Given the description of an element on the screen output the (x, y) to click on. 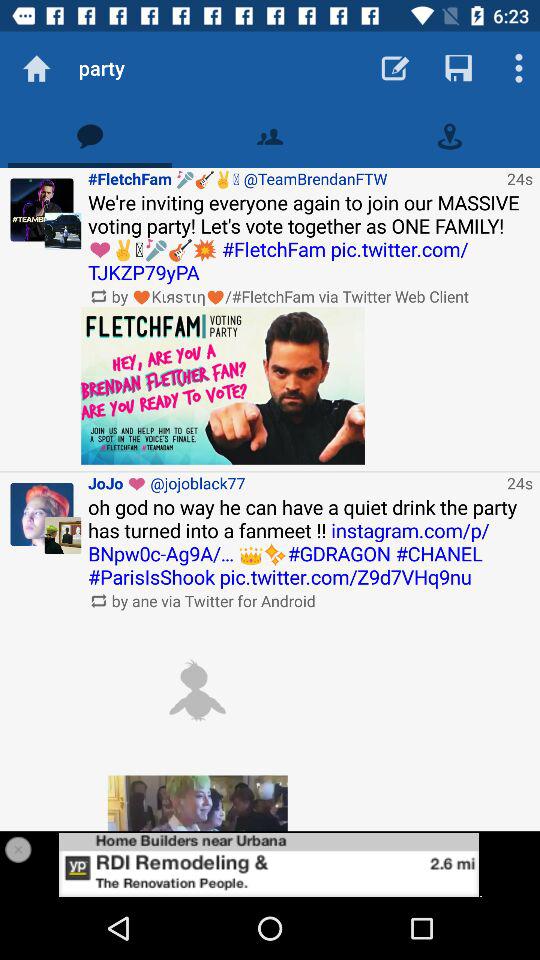
click to contact option (270, 136)
